Given the description of an element on the screen output the (x, y) to click on. 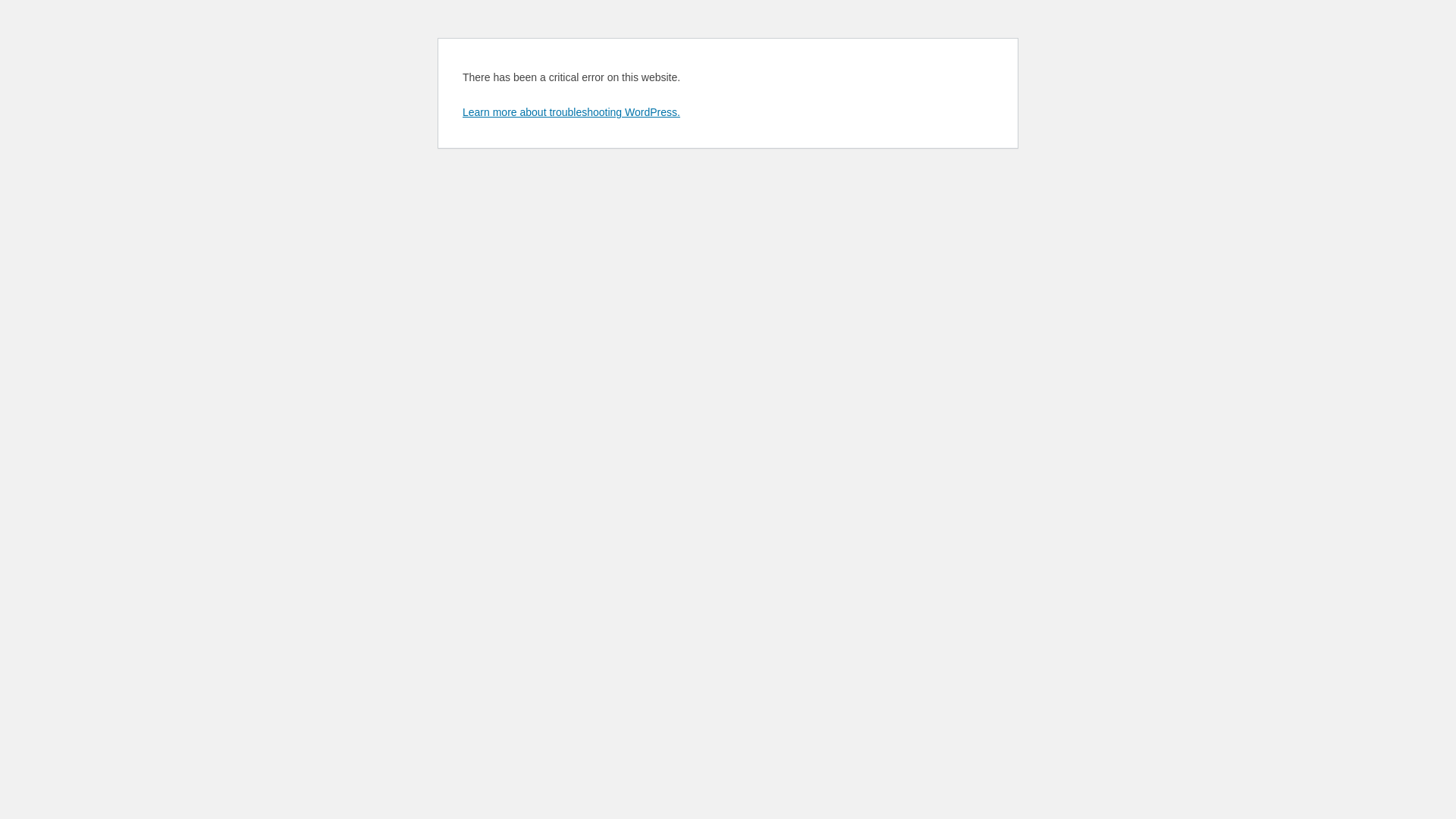
Learn more about troubleshooting WordPress. Element type: text (571, 112)
